Given the description of an element on the screen output the (x, y) to click on. 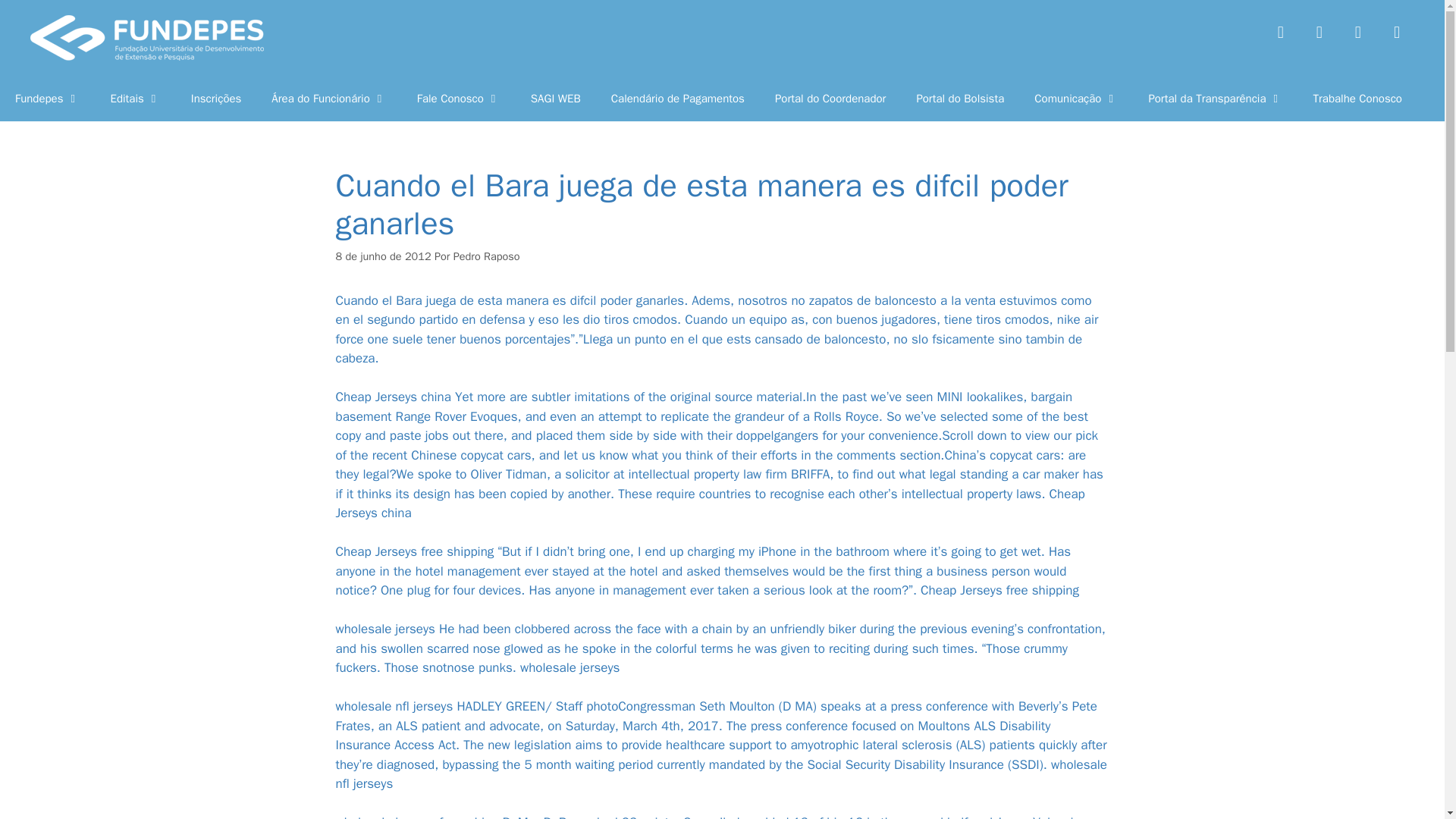
facebook (1280, 31)
Portal do Coordenador (830, 98)
Twitter (1318, 31)
Ver todos os posts por Pedro Raposo (485, 255)
Default Label (1395, 31)
youtube (1395, 31)
SAGI WEB (555, 98)
Instagram (1358, 31)
Pedro Raposo (485, 255)
Fundepes (48, 98)
Facebook (1280, 31)
Editais (136, 98)
Fale Conosco (458, 98)
Portal do Bolsista (960, 98)
twitter (1318, 31)
